Given the description of an element on the screen output the (x, y) to click on. 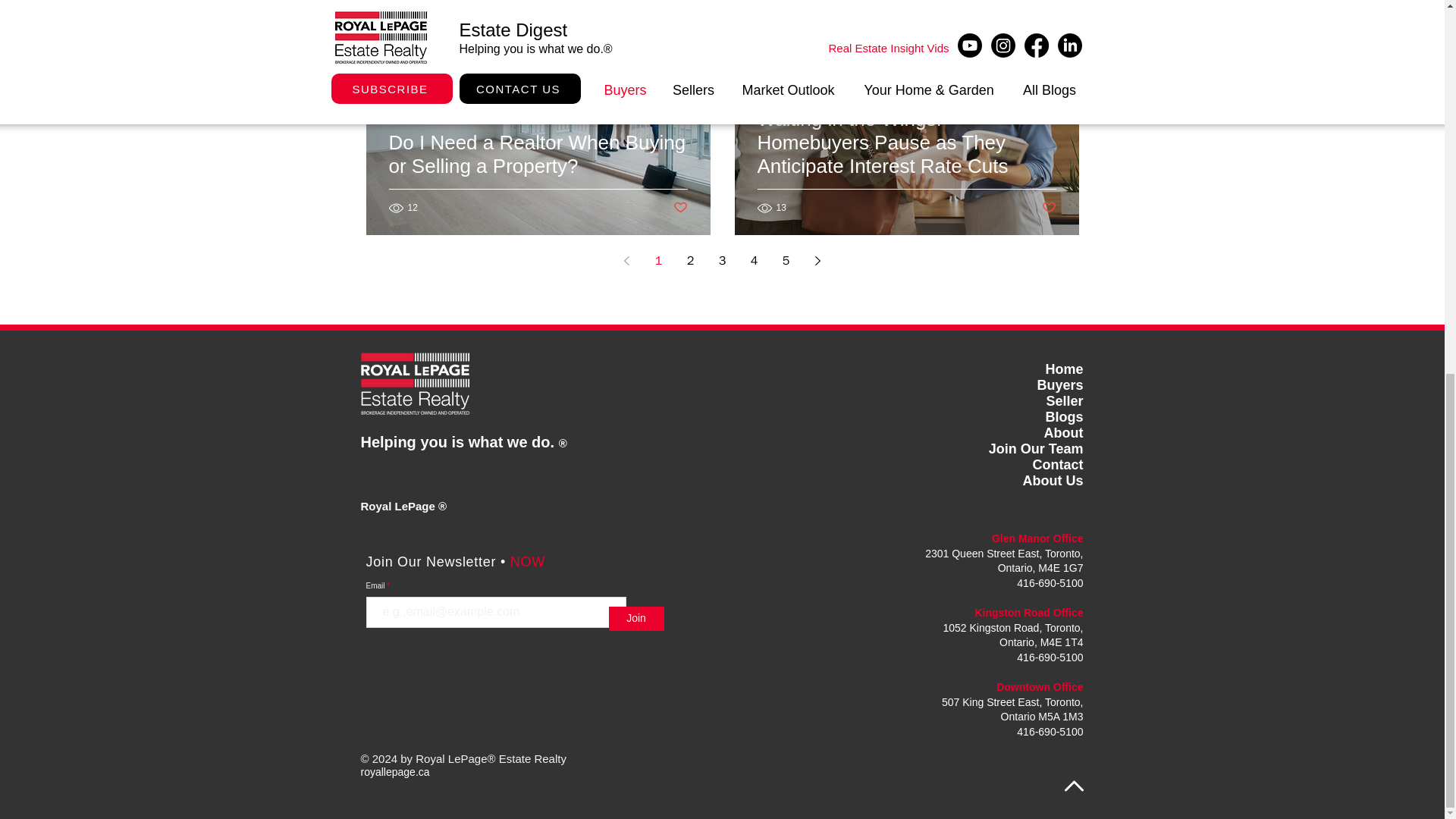
4 (753, 260)
Home (1064, 368)
Contact (1057, 464)
Seller (1064, 400)
Buyers (1059, 385)
2 (690, 260)
About Us (1052, 480)
About (1063, 432)
Post not marked as liked (679, 207)
Join (635, 618)
5 (785, 260)
Blogs (1064, 417)
Join Our Team (1035, 448)
3 (721, 260)
